Given the description of an element on the screen output the (x, y) to click on. 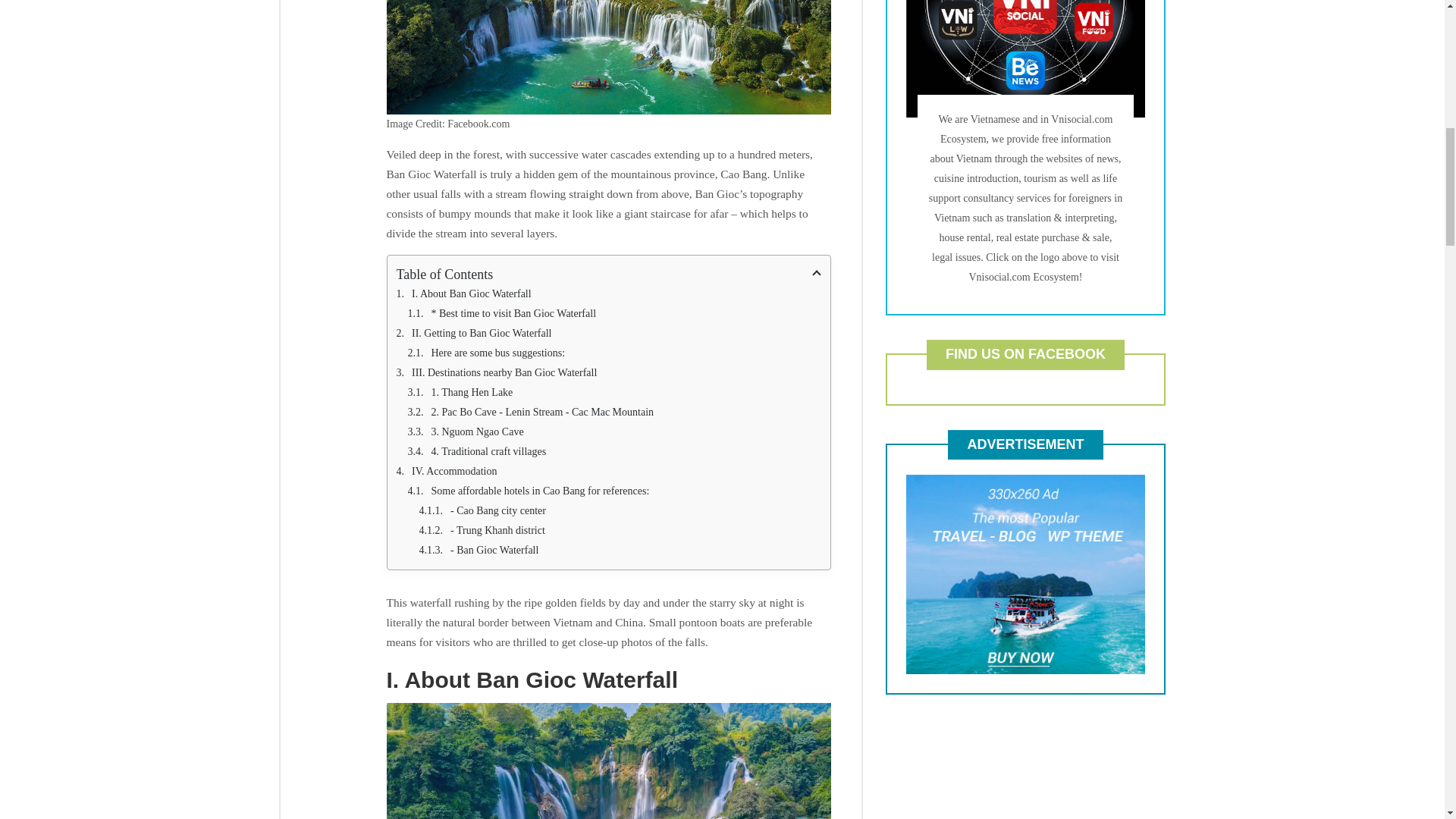
4. Traditional craft villages (614, 451)
1. Thang Hen Lake (614, 392)
- Ban Gioc Waterfall (620, 550)
3. Nguom Ngao Cave (614, 432)
Some affordable hotels in Cao Bang for references: (614, 491)
I. About Ban Gioc Waterfall (608, 293)
IV. Accommodation (608, 471)
- Cao Bang city center (620, 510)
Here are some bus suggestions: (614, 353)
- Trung Khanh district (620, 530)
